Given the description of an element on the screen output the (x, y) to click on. 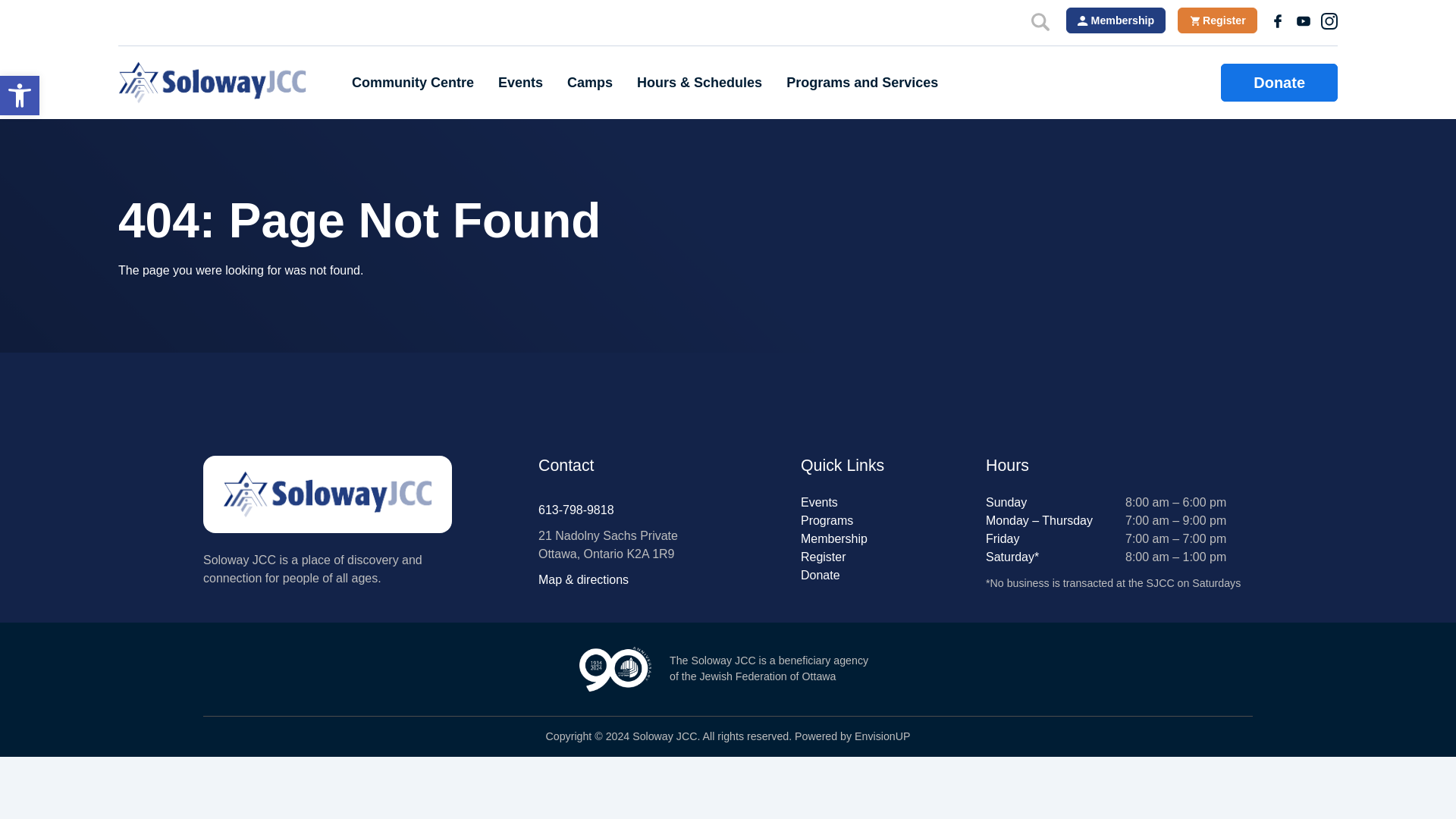
Membership (1115, 20)
Instagram (1329, 20)
Soloway JCC (211, 82)
Soloway JCC (327, 493)
Accessibility Tools (19, 95)
Events (520, 82)
Register (1217, 20)
Facebook (1277, 20)
Camps (589, 82)
Youtube (19, 95)
Accessibility Tools (1303, 20)
Community Centre (19, 95)
